Given the description of an element on the screen output the (x, y) to click on. 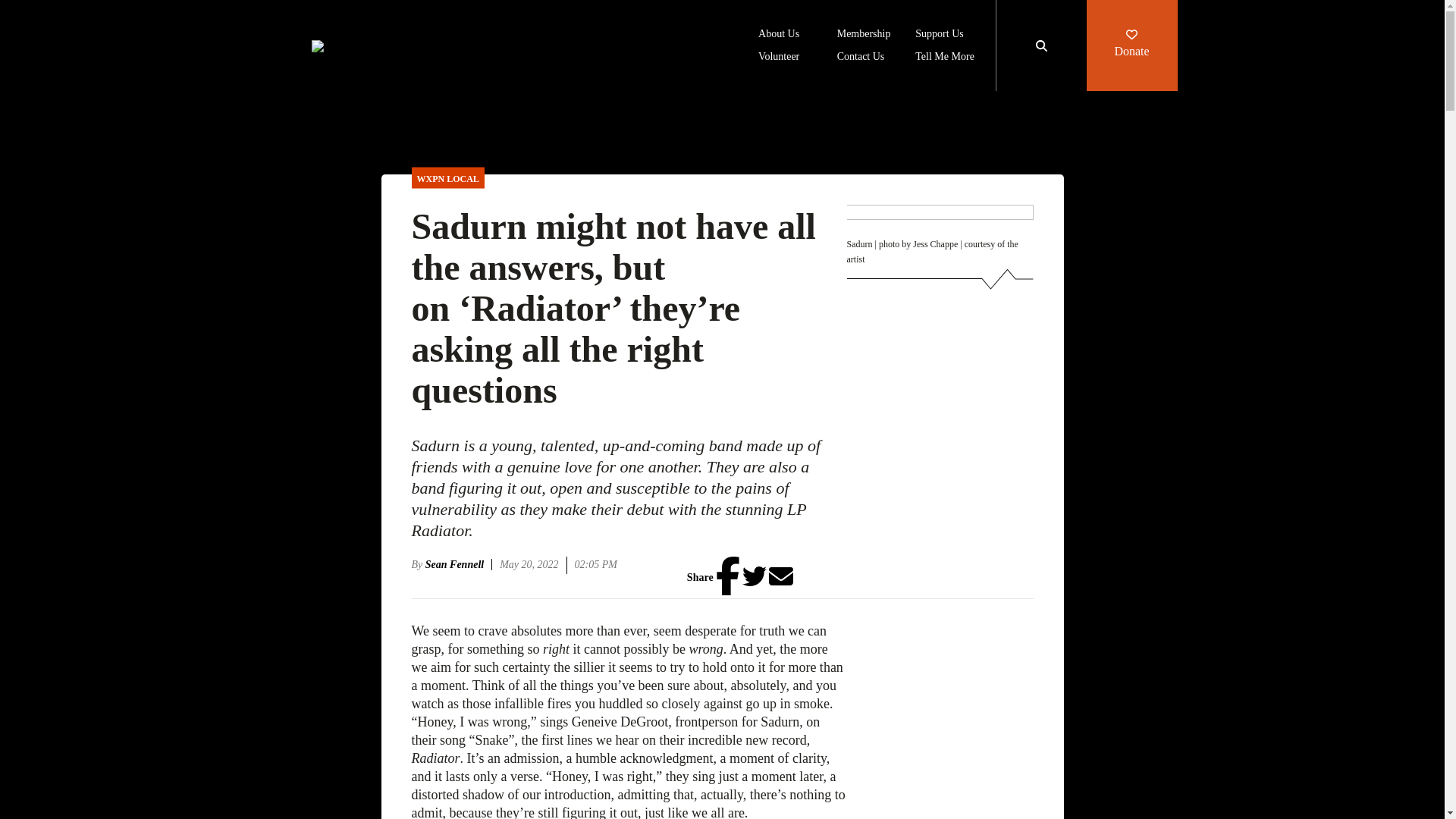
Donate (1131, 45)
Support Us (938, 35)
Contact Us (861, 57)
About Us (778, 35)
Membership (864, 35)
Volunteer (778, 57)
Sean Fennell (458, 564)
Tell Me More (944, 57)
